Given the description of an element on the screen output the (x, y) to click on. 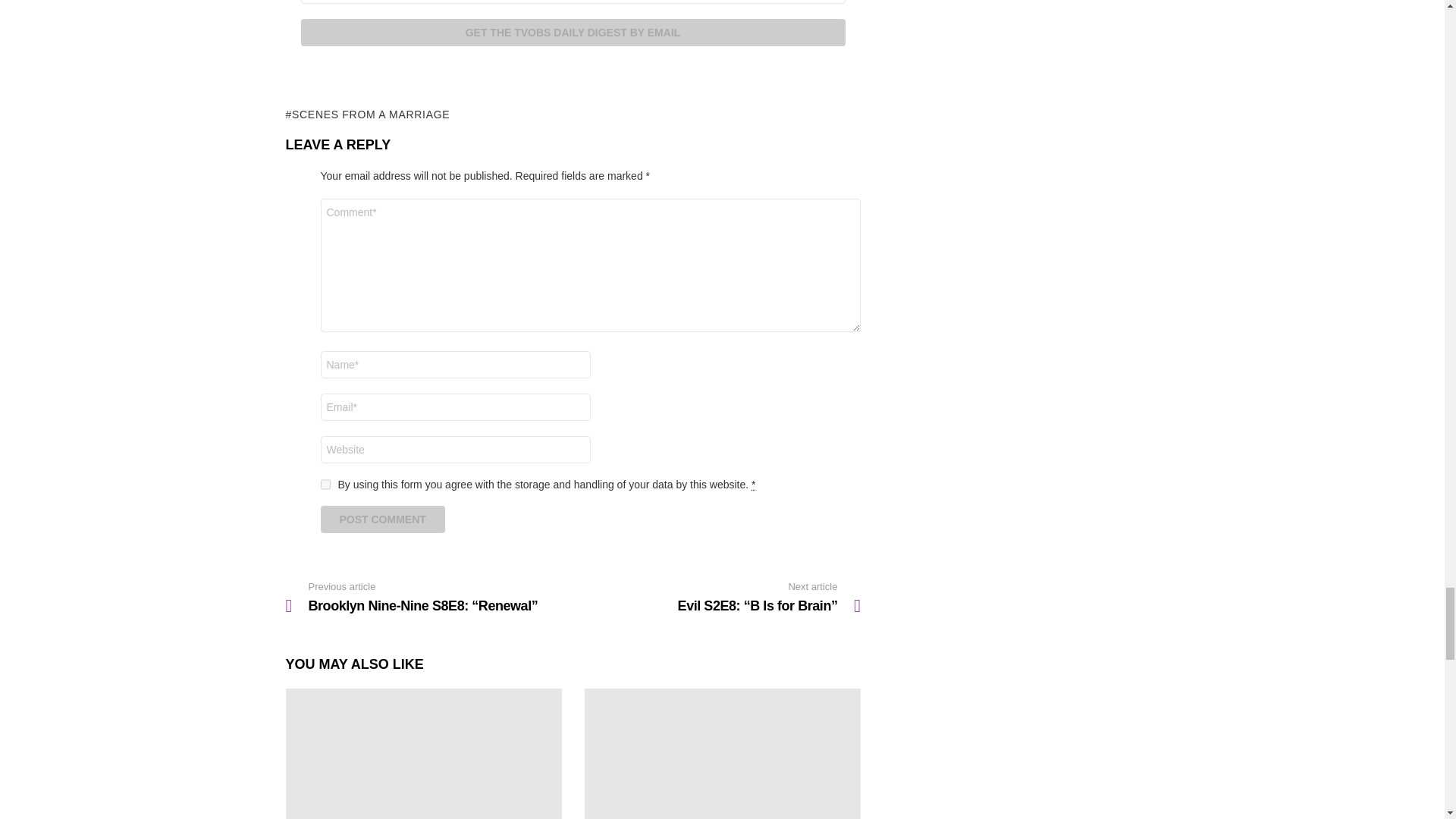
Get the TVObs Daily Digest by email (571, 31)
Post Comment (382, 519)
